Given the description of an element on the screen output the (x, y) to click on. 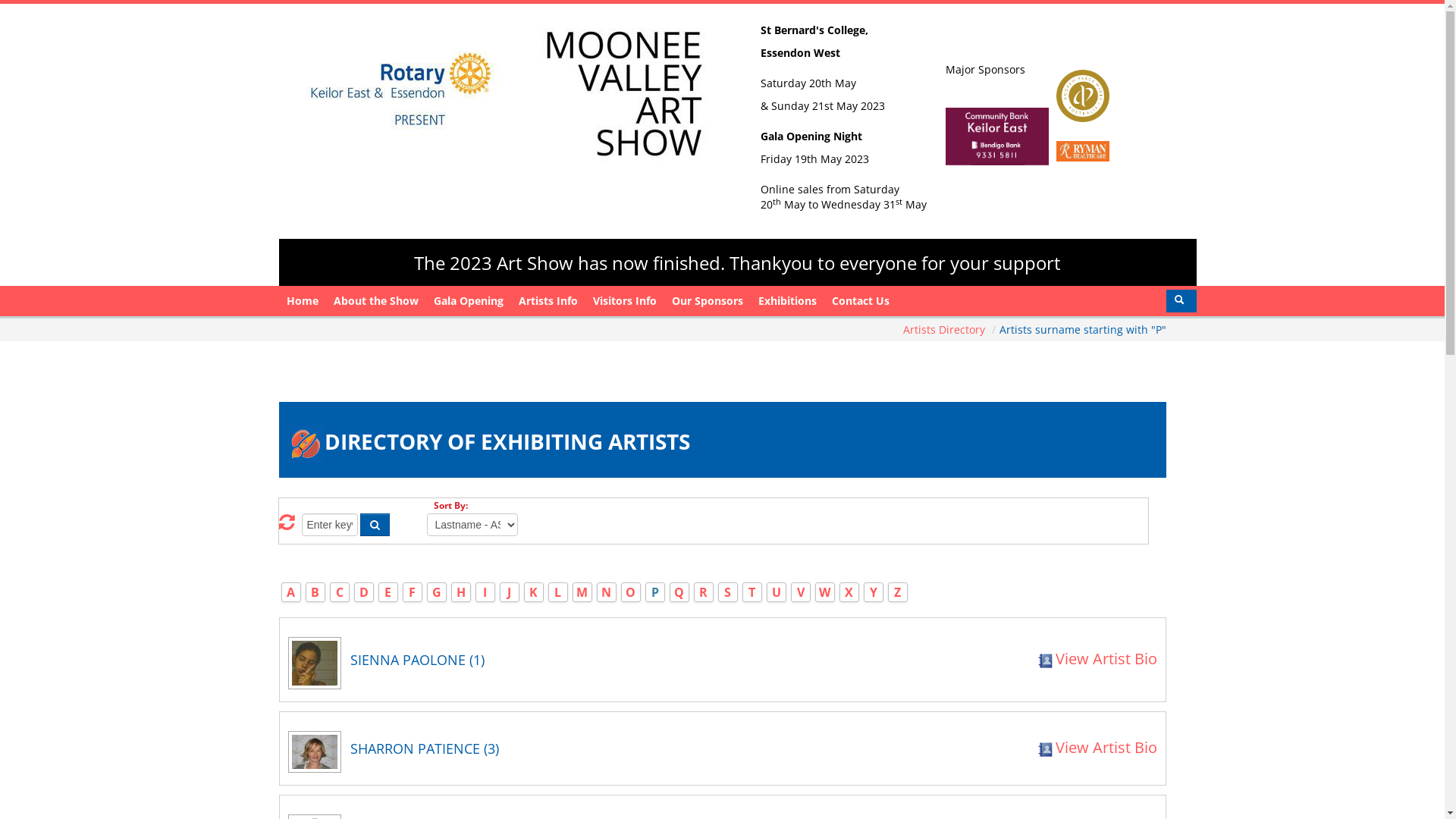
F Element type: text (411, 591)
R Element type: text (703, 591)
L Element type: text (557, 591)
Reset Search Criteria Element type: hover (286, 524)
Home Element type: text (302, 300)
D Element type: text (363, 591)
X Element type: text (848, 591)
View Artist Bio Element type: text (1095, 747)
S Element type: text (727, 591)
N Element type: text (606, 591)
Artists Directory Element type: text (944, 329)
Artists Info Element type: text (548, 300)
O Element type: text (630, 591)
I Element type: text (484, 591)
Contact Us Element type: text (859, 300)
SIENNA PAOLONE (1) Element type: text (562, 659)
U Element type: text (776, 591)
W Element type: text (824, 591)
H Element type: text (460, 591)
Q Element type: text (679, 591)
A Element type: text (290, 591)
B Element type: text (314, 591)
About the Show Element type: text (376, 300)
Z Element type: text (897, 591)
Exhibitions Element type: text (787, 300)
E Element type: text (387, 591)
M Element type: text (581, 591)
G Element type: text (436, 591)
K Element type: text (533, 591)
Bendigo Community Bank Keilor East Element type: hover (1082, 149)
Our Sponsors Element type: text (707, 300)
SHARRON PATIENCE (3) Element type: text (572, 748)
T Element type: text (751, 591)
View Artist Bio Element type: text (1095, 658)
View all works by Sienna Paolone Element type: hover (318, 668)
View all works by Sharron Patience Element type: hover (318, 757)
Y Element type: text (872, 591)
J Element type: text (509, 591)
V Element type: text (799, 591)
C Element type: text (338, 591)
Visitors Info Element type: text (624, 300)
Gala Opening Element type: text (468, 300)
